Given the description of an element on the screen output the (x, y) to click on. 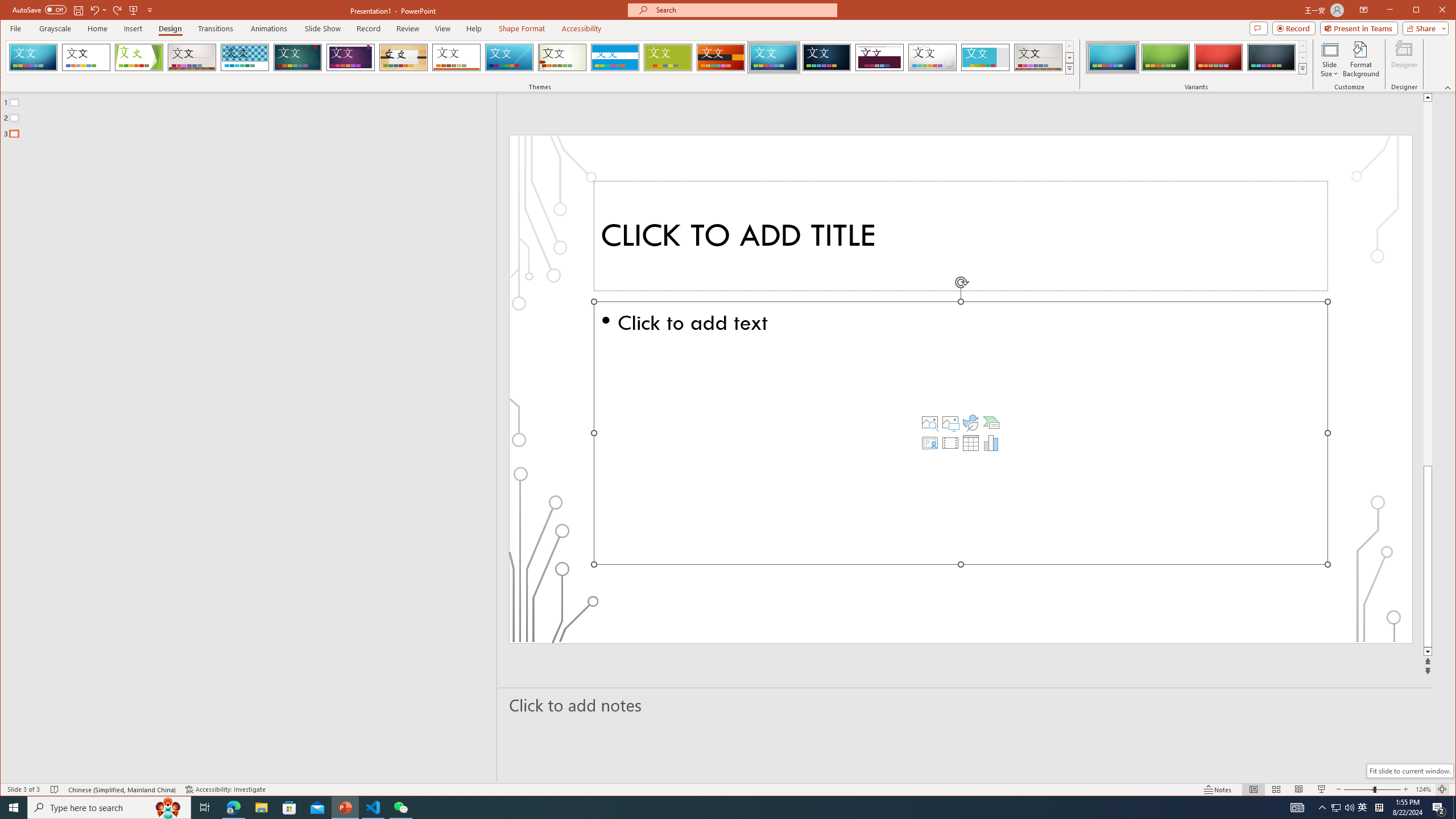
Circuit Variant 4 (1270, 57)
